Given the description of an element on the screen output the (x, y) to click on. 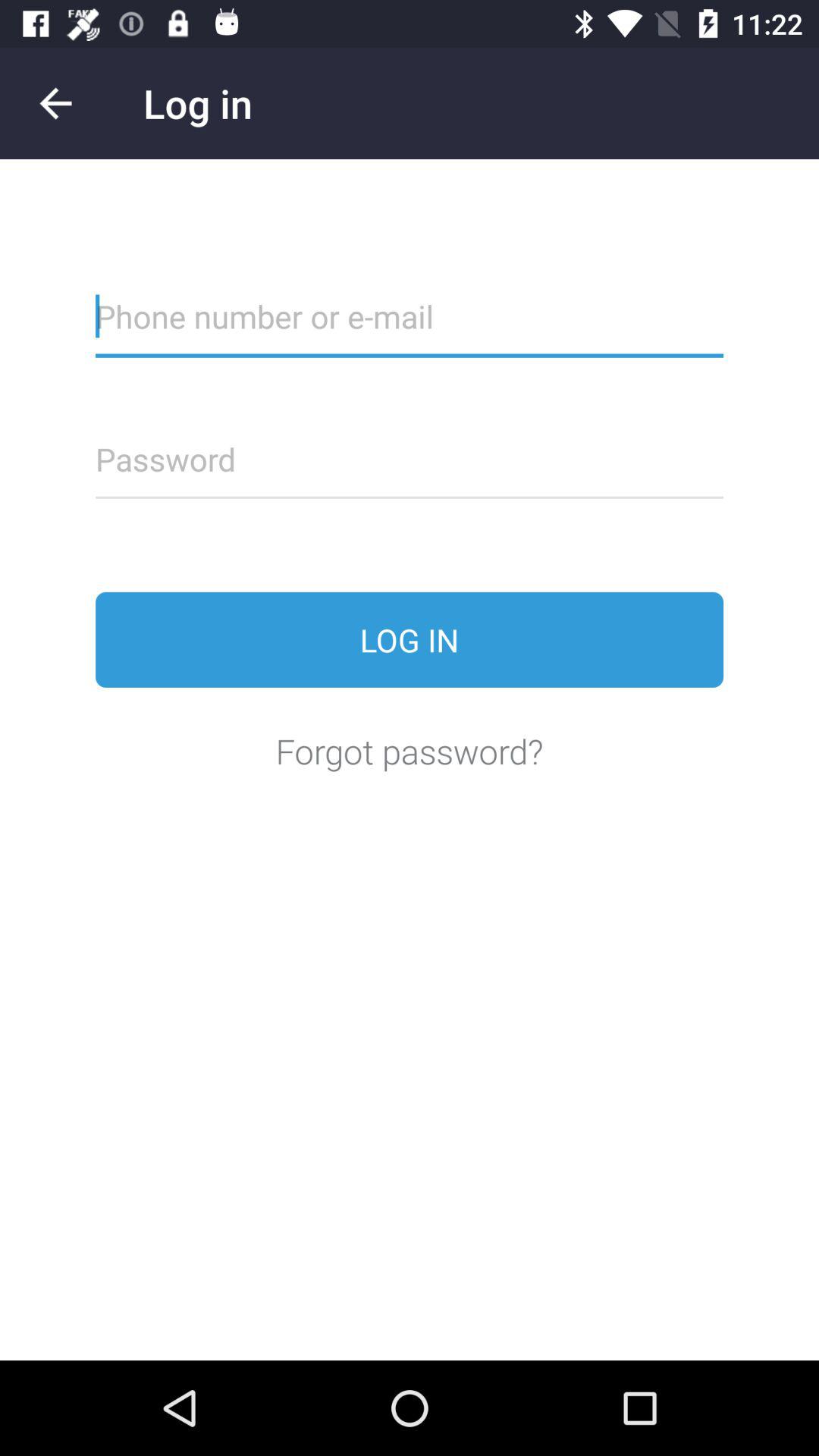
enter phone number or e-mail (409, 325)
